Given the description of an element on the screen output the (x, y) to click on. 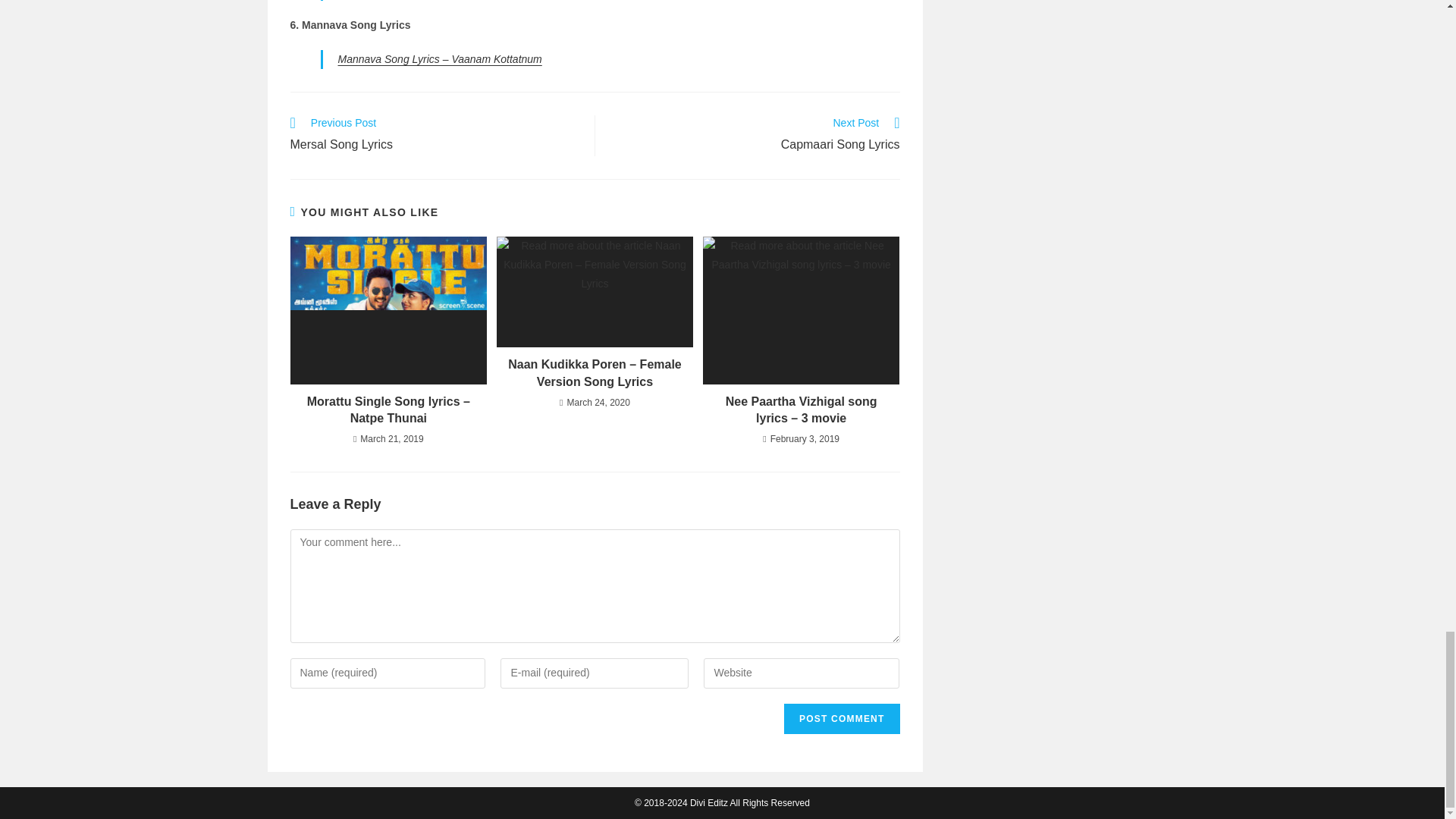
Post Comment (841, 718)
Post Comment (754, 135)
